Given the description of an element on the screen output the (x, y) to click on. 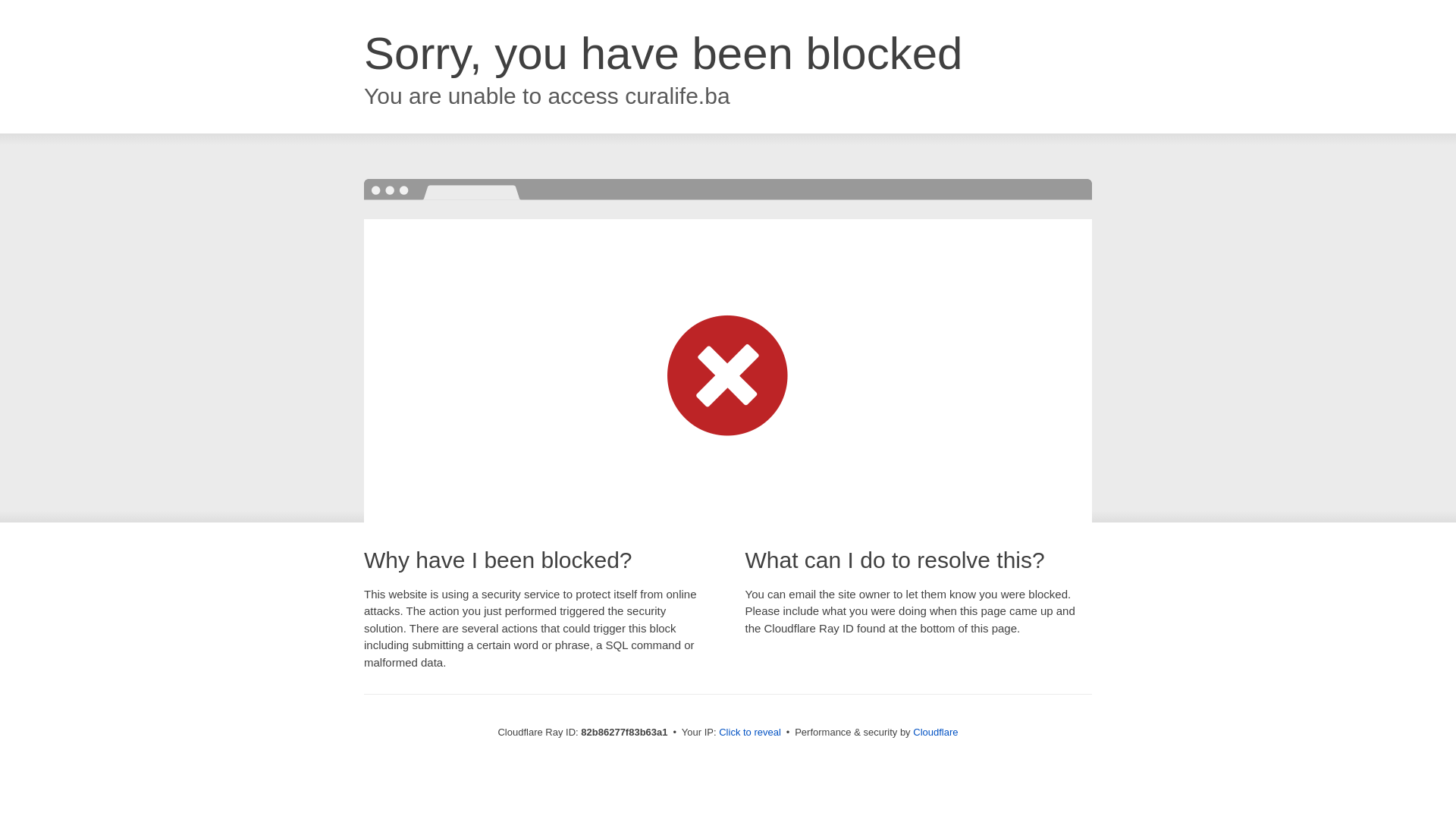
Click to reveal Element type: text (749, 732)
Cloudflare Element type: text (935, 731)
